Given the description of an element on the screen output the (x, y) to click on. 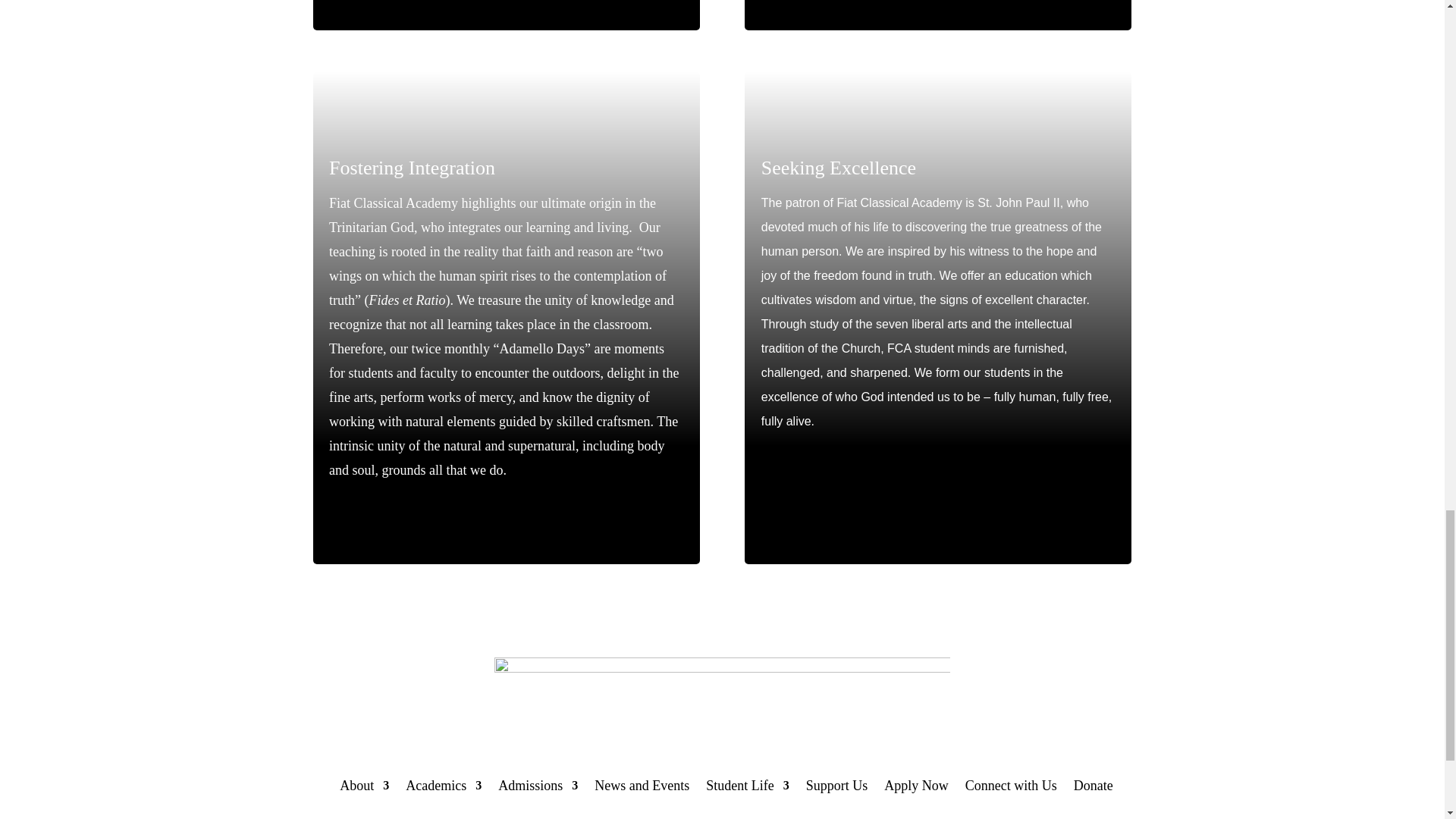
fiat-tagline (722, 693)
